Given the description of an element on the screen output the (x, y) to click on. 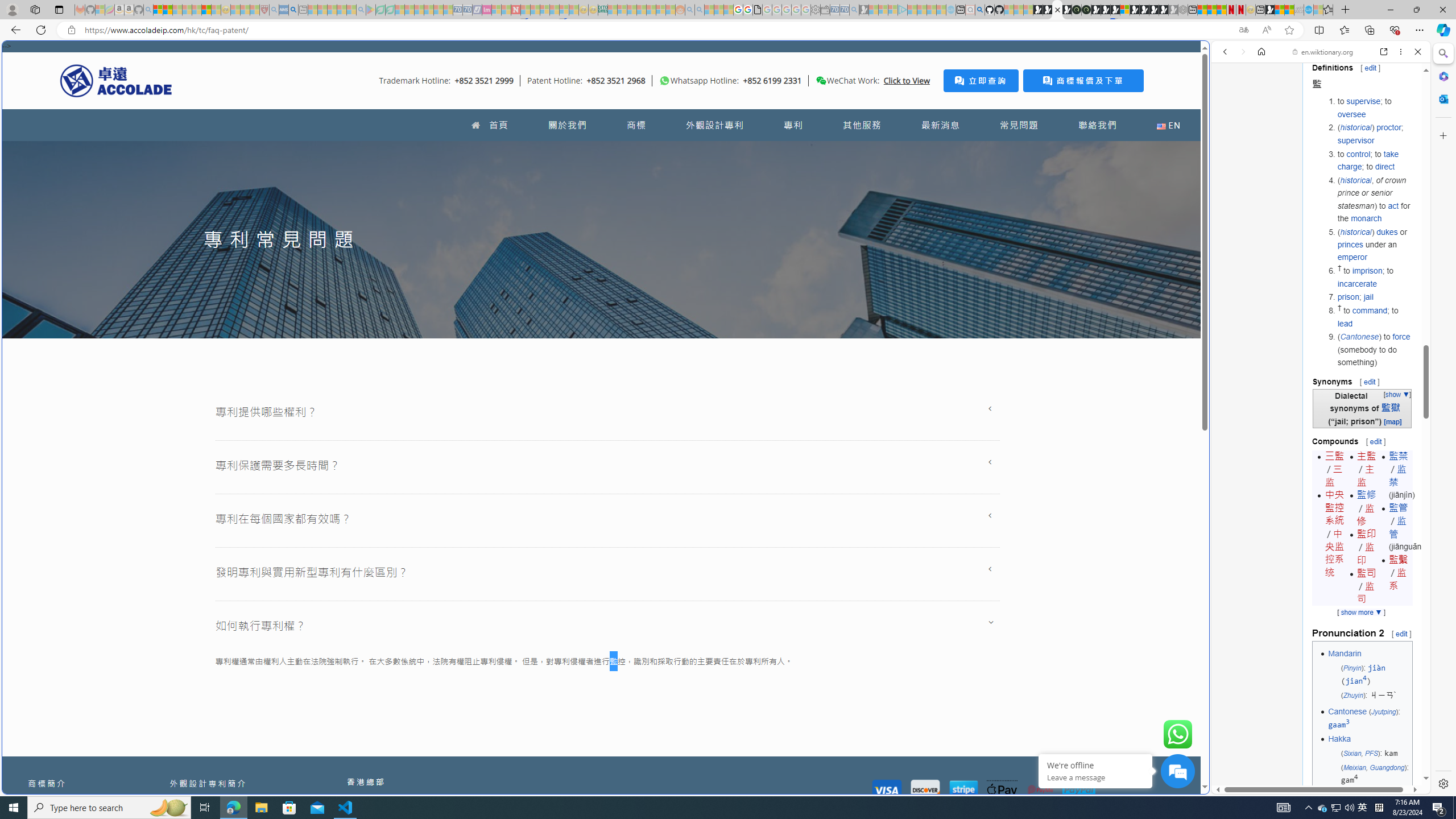
PFS (1370, 752)
Guangdong (1387, 767)
EN (1168, 124)
proctor (1387, 127)
direct (1384, 166)
